Given the description of an element on the screen output the (x, y) to click on. 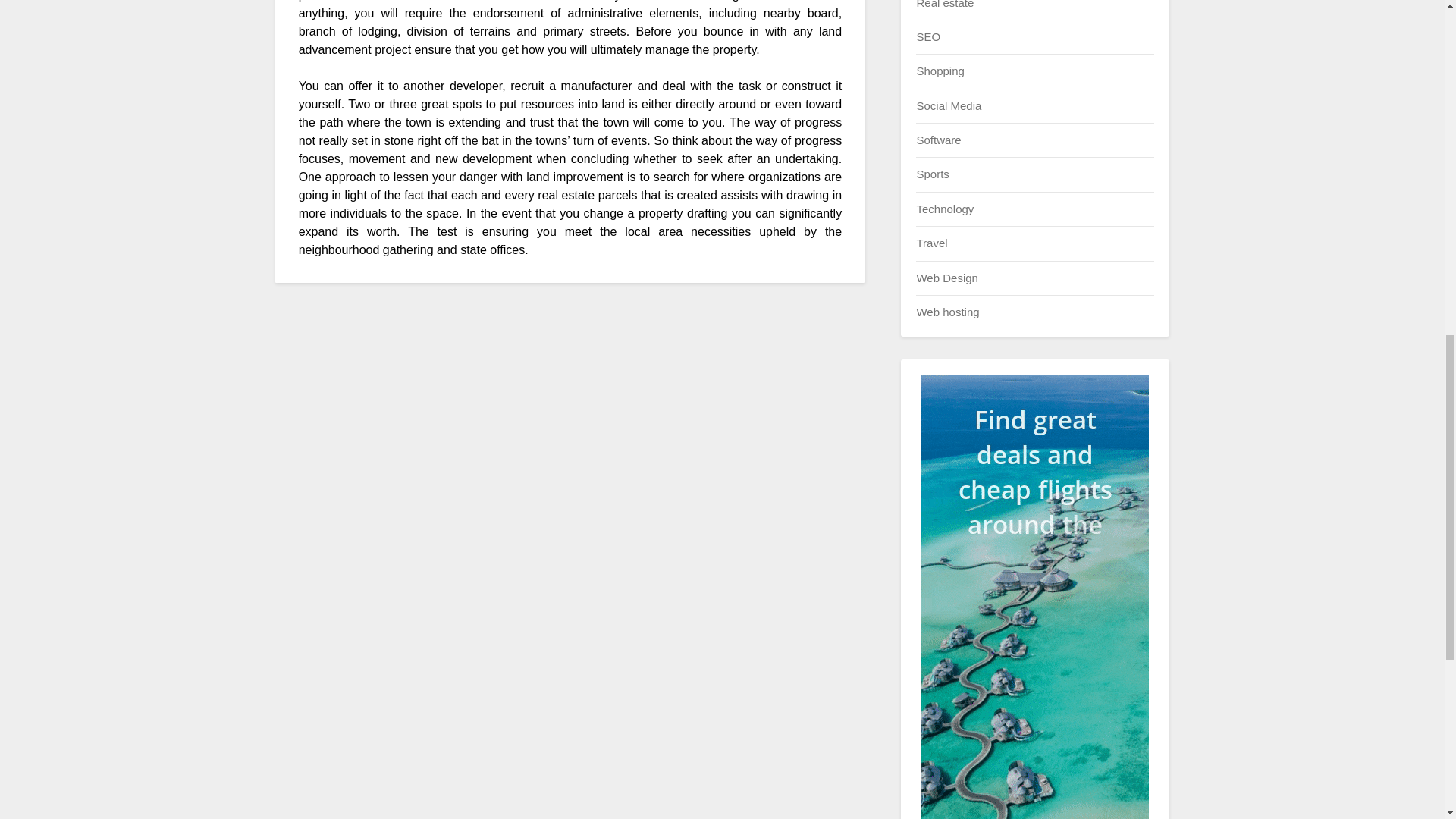
SEO (927, 36)
Shopping (939, 70)
Social Media (948, 105)
Technology (944, 208)
Software (937, 139)
Real estate (944, 4)
Sports (932, 173)
Travel (931, 242)
